Given the description of an element on the screen output the (x, y) to click on. 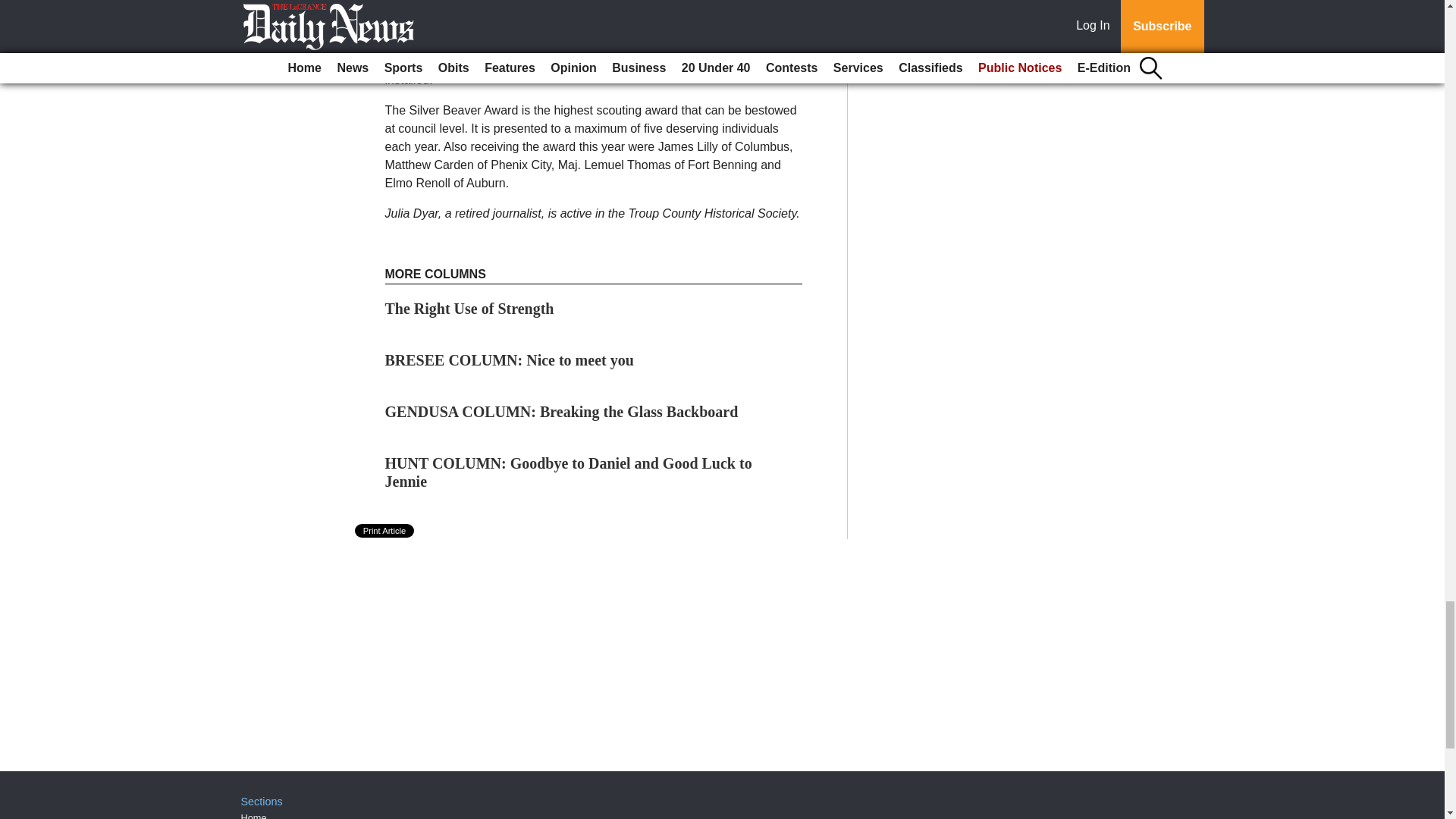
Home (253, 815)
The Right Use of Strength (469, 308)
The Right Use of Strength (469, 308)
GENDUSA COLUMN: Breaking the Glass Backboard (561, 411)
BRESEE COLUMN: Nice to meet you (509, 360)
Print Article (384, 530)
HUNT COLUMN: Goodbye to Daniel and Good Luck to Jennie (568, 472)
BRESEE COLUMN: Nice to meet you (509, 360)
GENDUSA COLUMN: Breaking the Glass Backboard (561, 411)
HUNT COLUMN: Goodbye to Daniel and Good Luck to Jennie (568, 472)
